Given the description of an element on the screen output the (x, y) to click on. 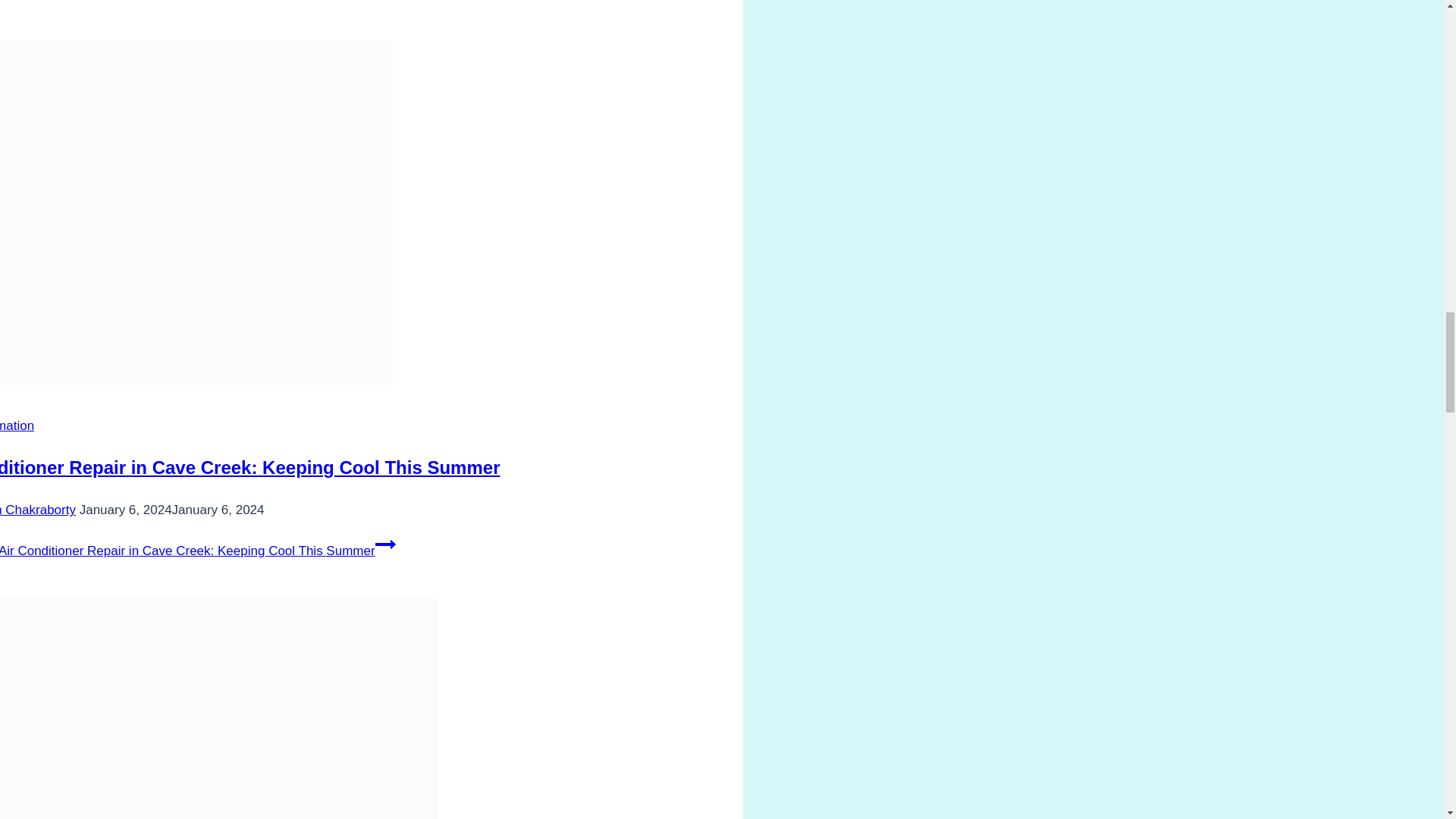
Sudarsan Chakraborty (37, 509)
Continue (385, 544)
Home Information (16, 425)
